Given the description of an element on the screen output the (x, y) to click on. 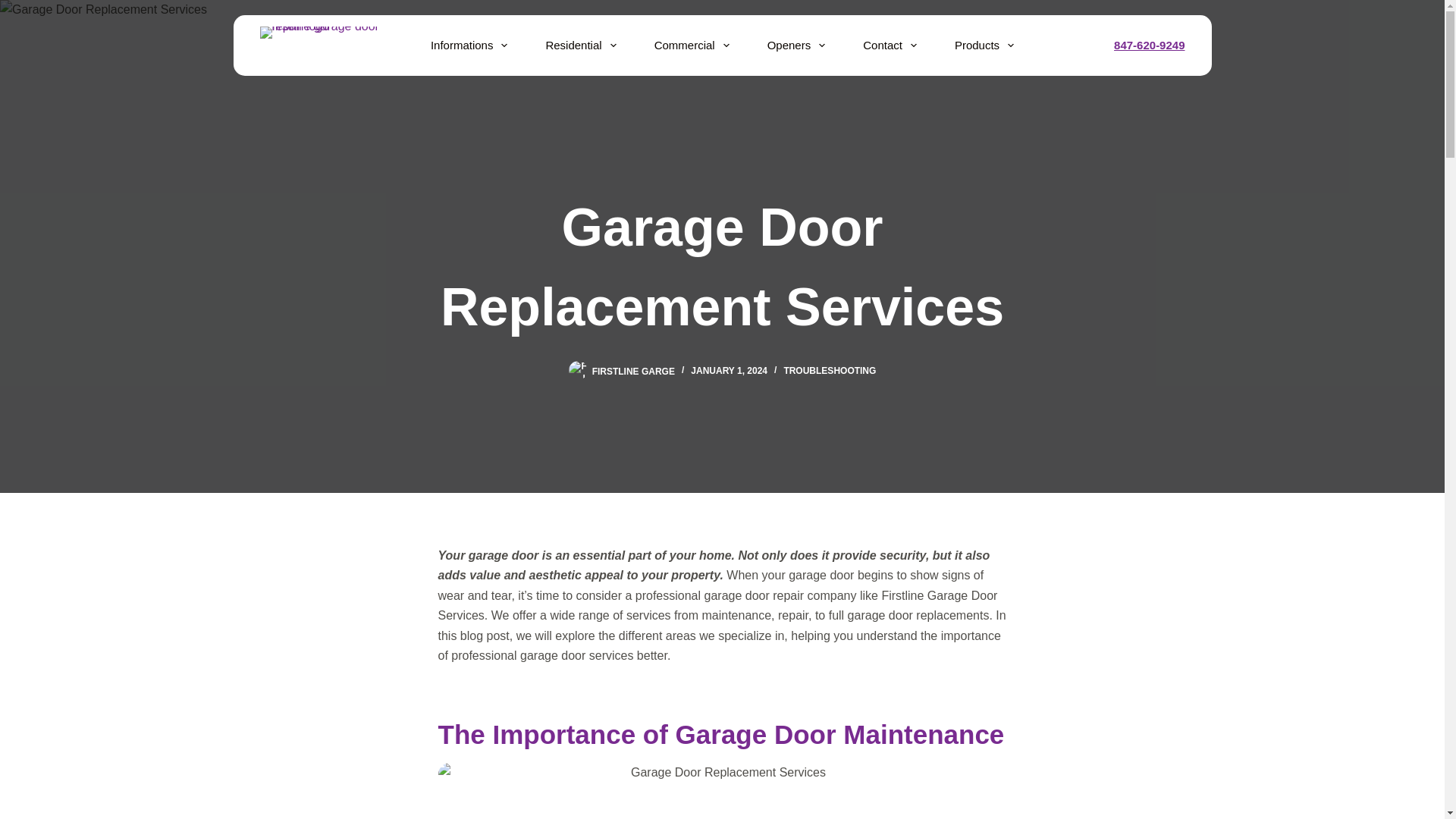
Garage Door Replacement Services (722, 267)
Skip to content (15, 7)
Posts by Firstline Garge (633, 370)
